Given the description of an element on the screen output the (x, y) to click on. 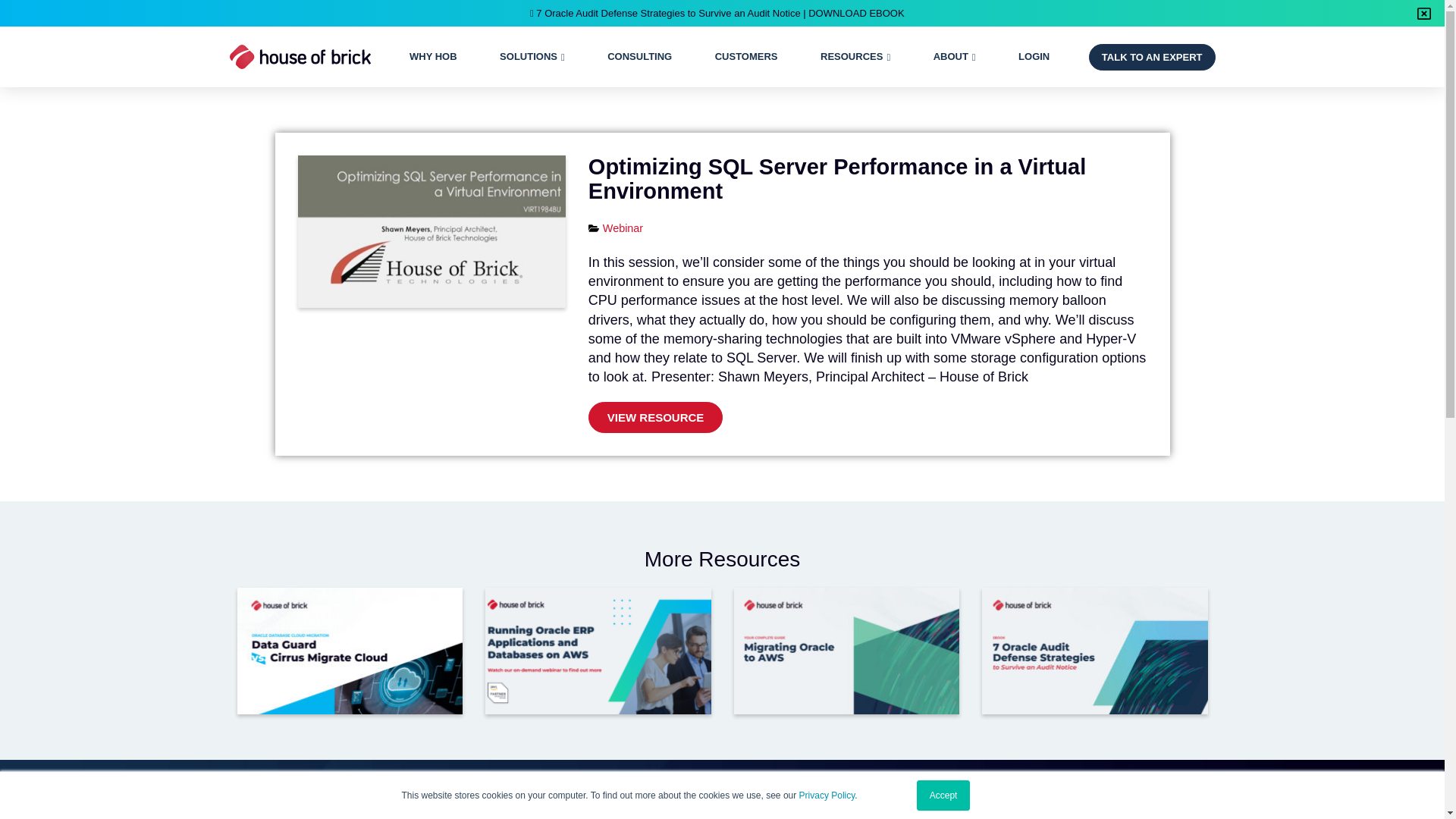
RESOURCES (851, 57)
WHY HOB (433, 57)
CONSULTING (639, 57)
CUSTOMERS (745, 57)
Accept (944, 795)
SOLUTIONS (528, 57)
Privacy Policy (827, 795)
